Given the description of an element on the screen output the (x, y) to click on. 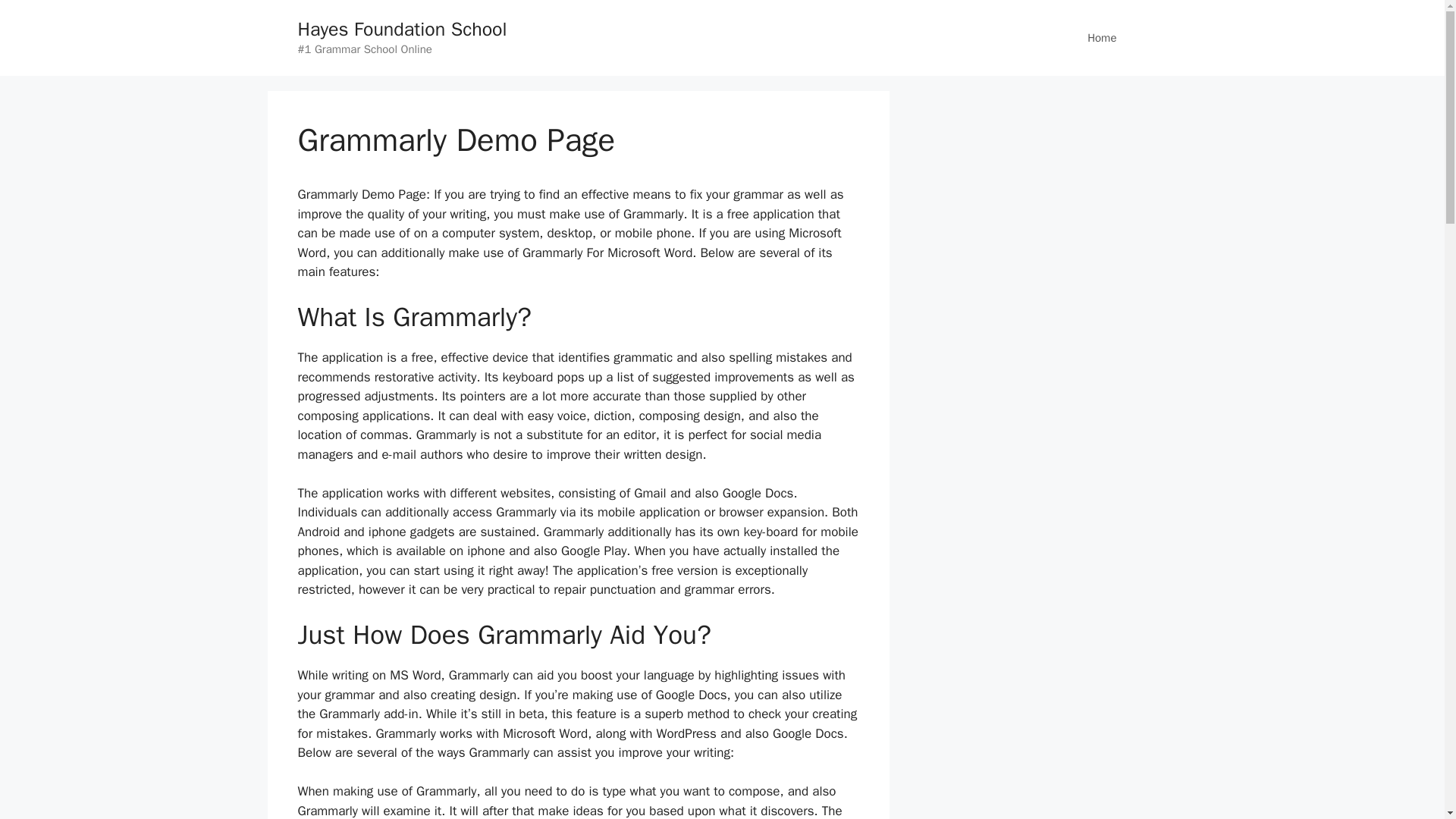
Hayes Foundation School (401, 28)
Home (1101, 37)
